Given the description of an element on the screen output the (x, y) to click on. 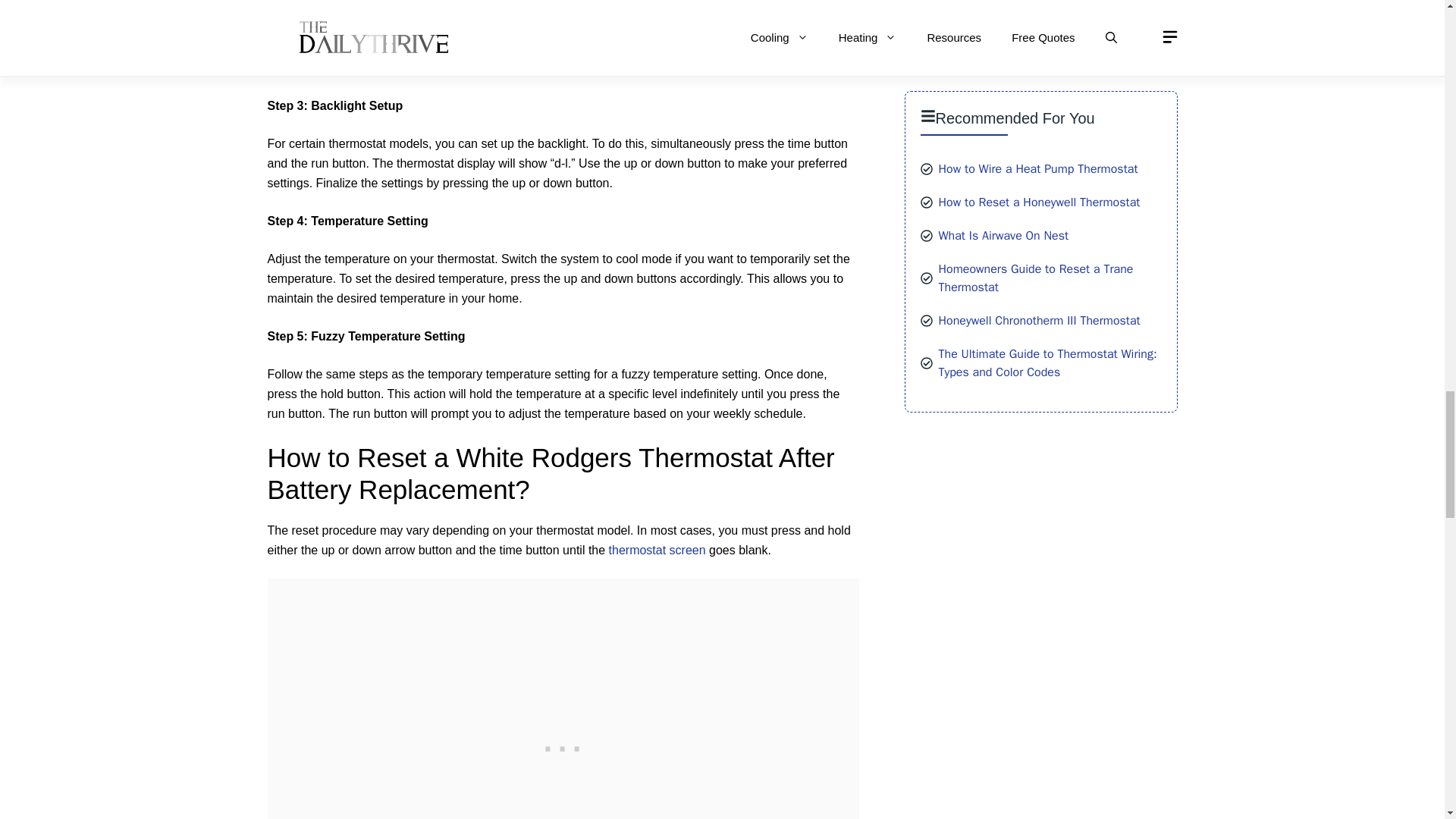
thermostat screen (657, 549)
